Given the description of an element on the screen output the (x, y) to click on. 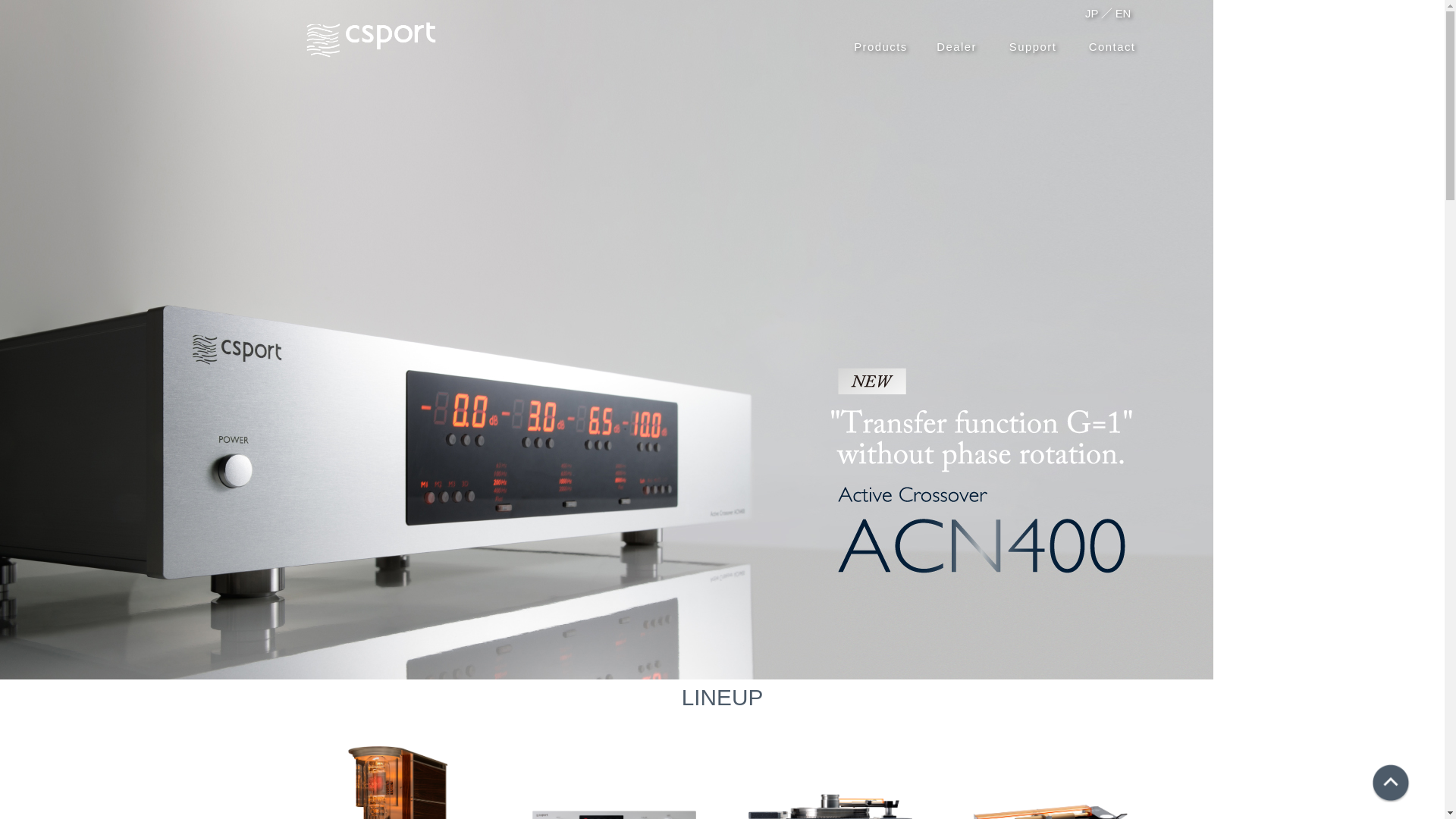
EN Element type: text (1123, 13)
Contact Element type: text (1111, 46)
JP Element type: text (1091, 13)
Products Element type: text (880, 46)
Dealer Element type: text (956, 46)
CS Port Co. Element type: hover (370, 39)
Support Element type: text (1033, 46)
